Given the description of an element on the screen output the (x, y) to click on. 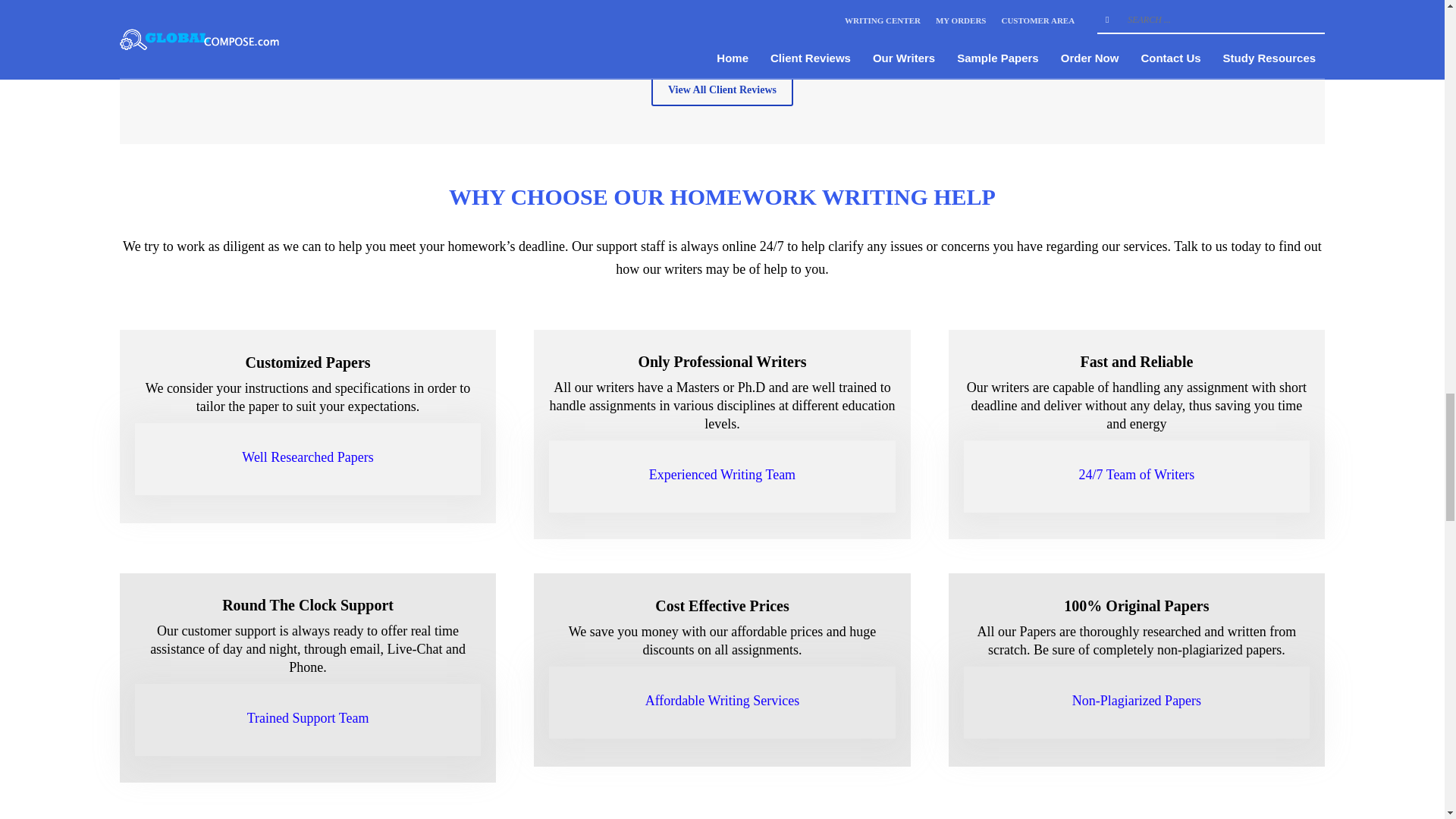
Affordable Writing Services (722, 700)
Trained Support Team (308, 717)
Experienced Writing Team (721, 474)
Well Researched Papers (306, 457)
View All Client Reviews (721, 90)
Non-Plagiarized Papers (1136, 700)
